Given the description of an element on the screen output the (x, y) to click on. 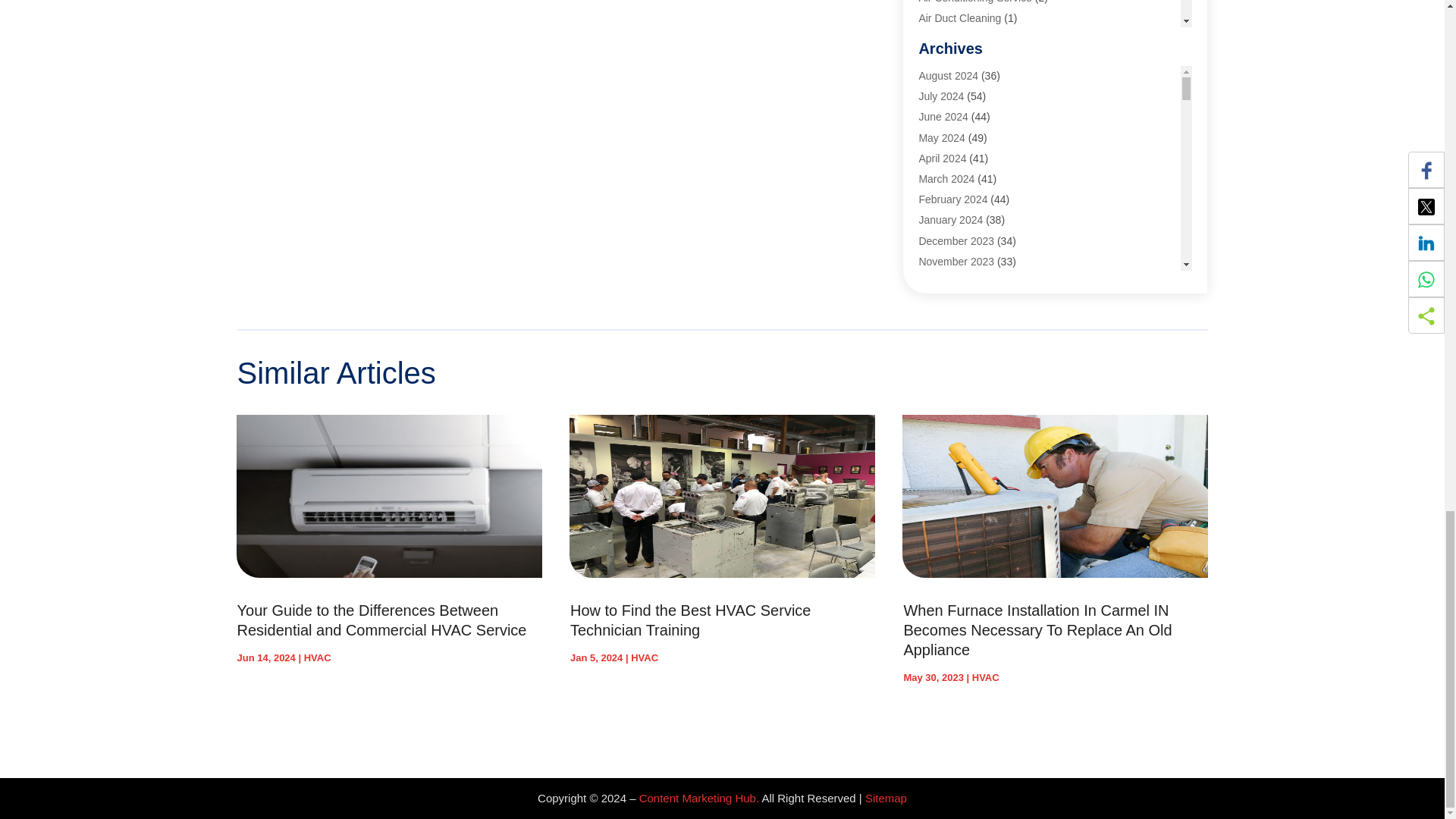
Aluminum Supplier (962, 100)
Air Quality (943, 38)
Alarm Systems (954, 59)
Aluminum (941, 79)
Air Conditioning Service (974, 1)
Air Duct Cleaning (959, 18)
